Given the description of an element on the screen output the (x, y) to click on. 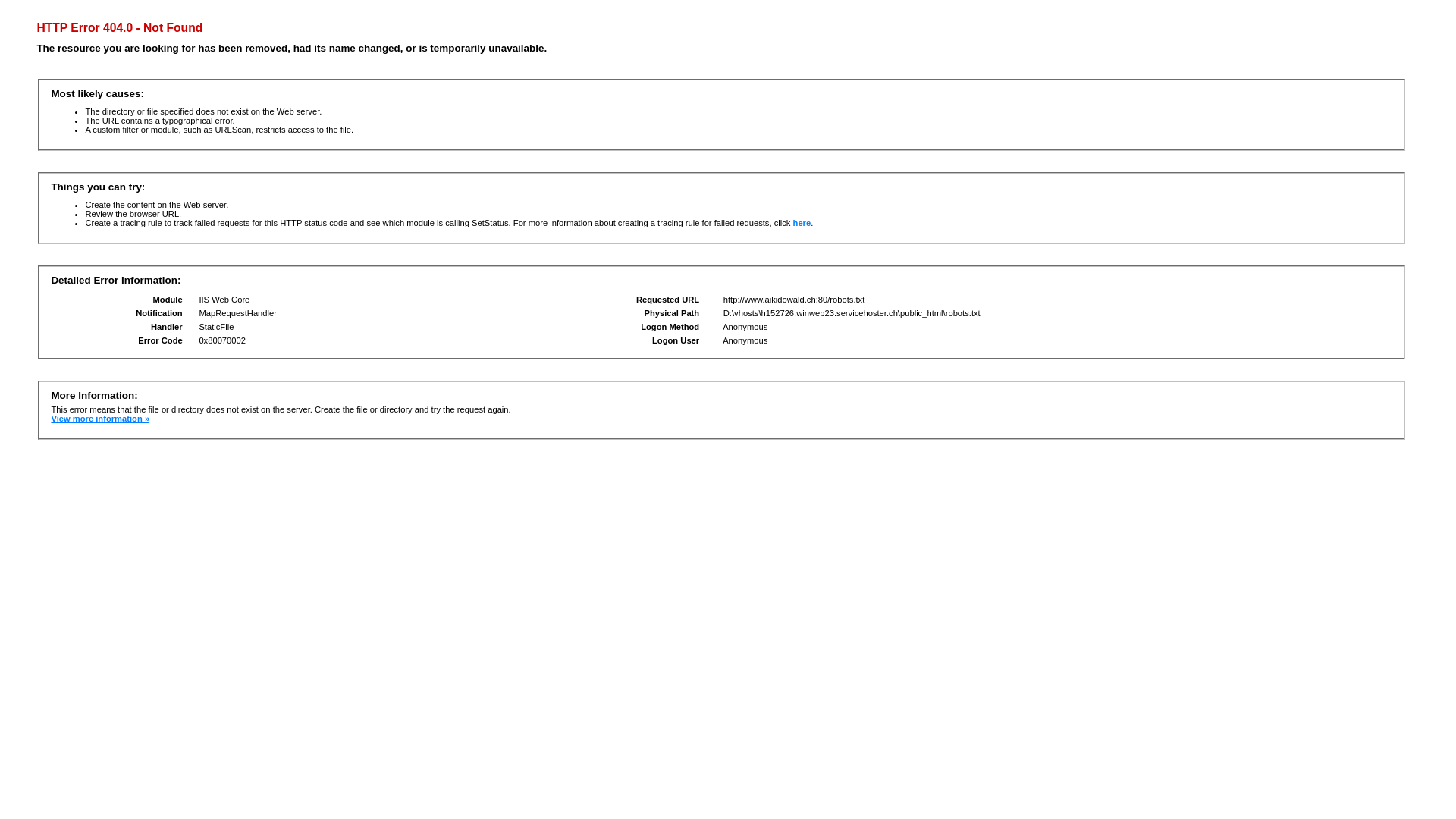
here Element type: text (802, 222)
